Given the description of an element on the screen output the (x, y) to click on. 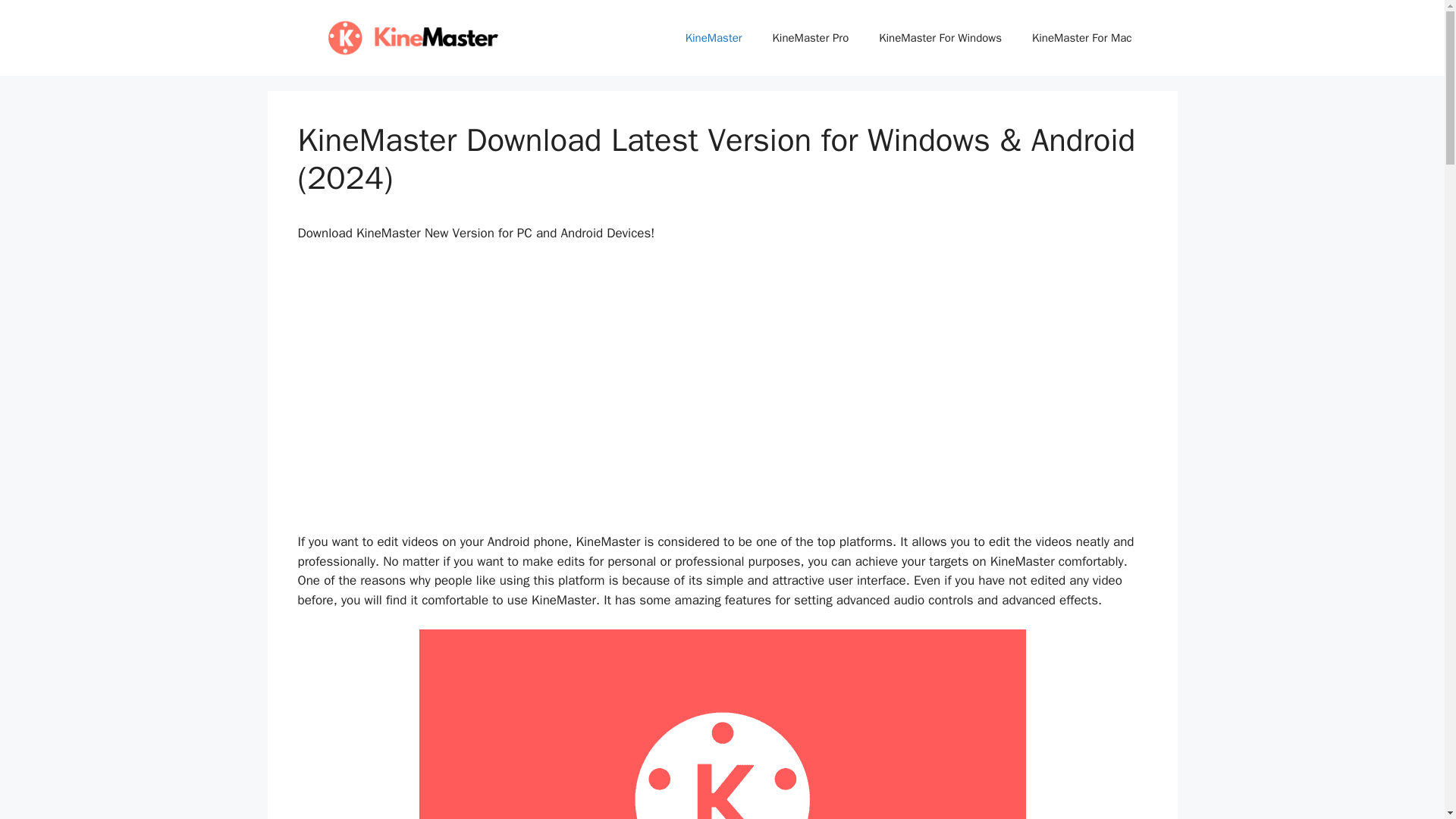
KineMaster For Mac (1081, 37)
KineMaster (713, 37)
KineMaster Pro (810, 37)
KineMaster For Windows (939, 37)
